Given the description of an element on the screen output the (x, y) to click on. 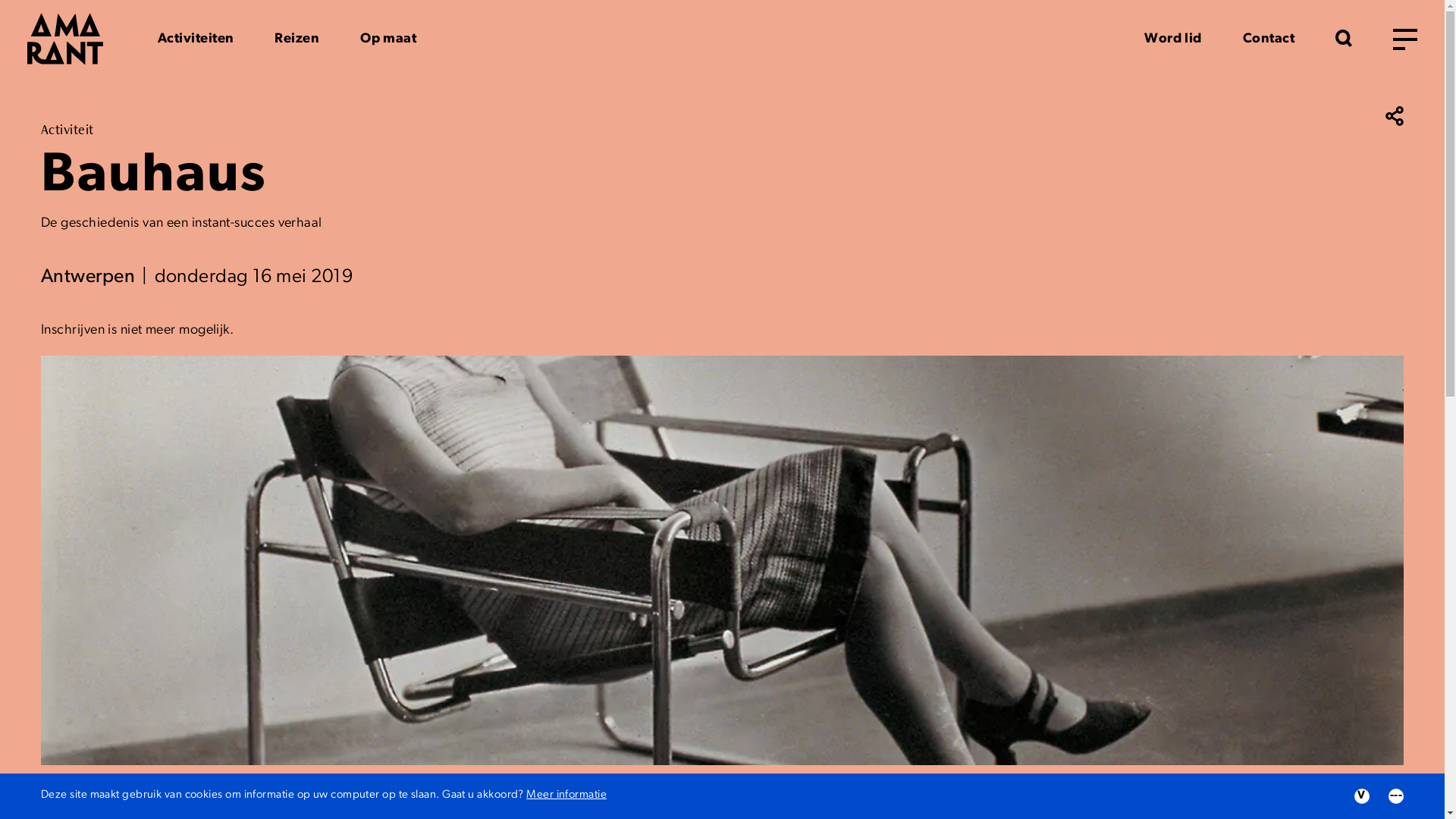
Amarant Element type: hover (65, 38)
Contact Element type: text (1268, 38)
  Menu
  Element type: text (1405, 39)
Word lid Element type: text (1172, 38)
Meer informatie Element type: text (566, 794)
V Element type: text (1361, 795)
Op maat Element type: text (388, 38)
Reizen Element type: text (296, 38)
Activiteiten Element type: text (195, 38)
--- Element type: text (1395, 795)
